Given the description of an element on the screen output the (x, y) to click on. 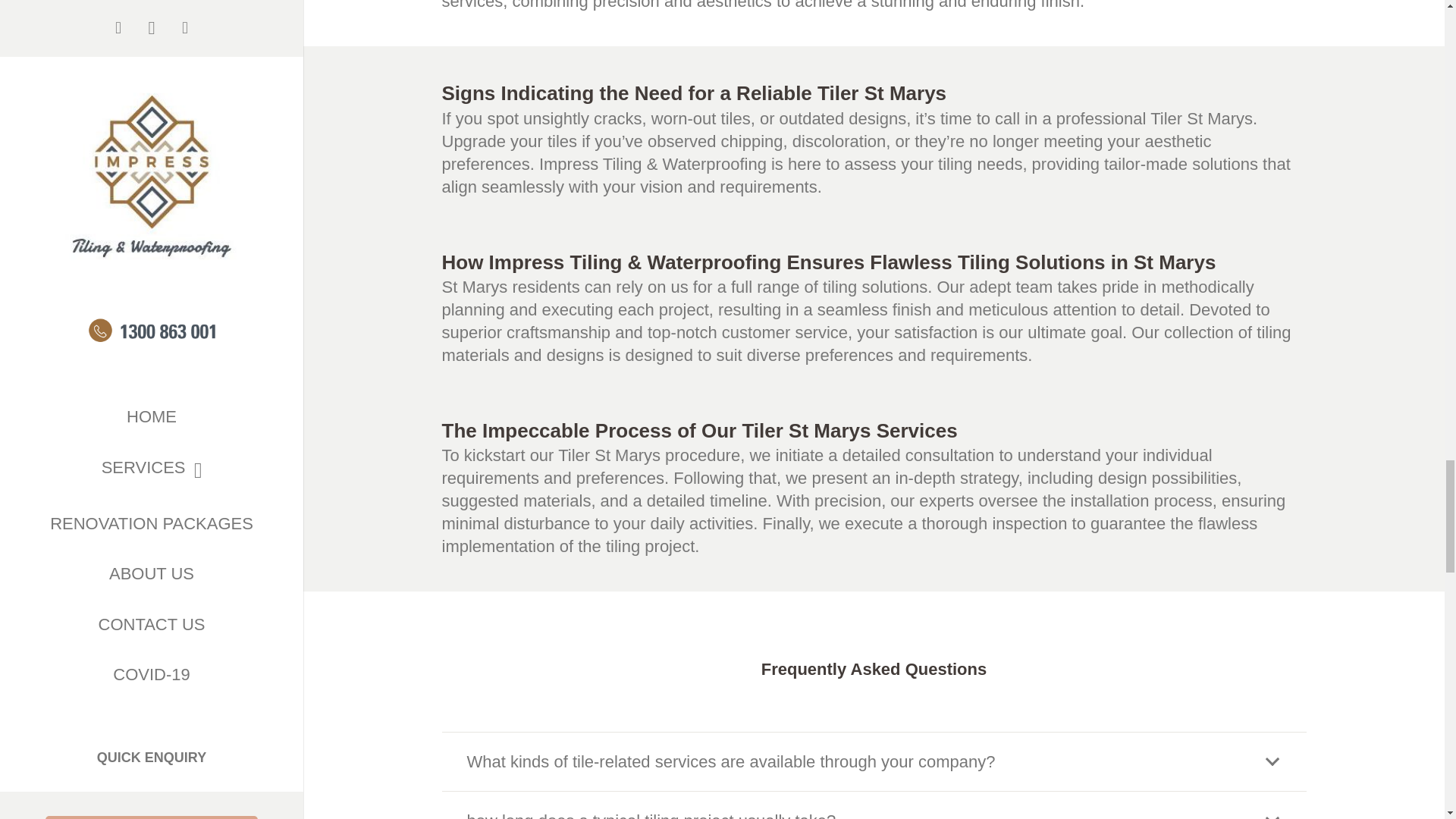
how long does a typical tiling project usually take? (873, 805)
